Given the description of an element on the screen output the (x, y) to click on. 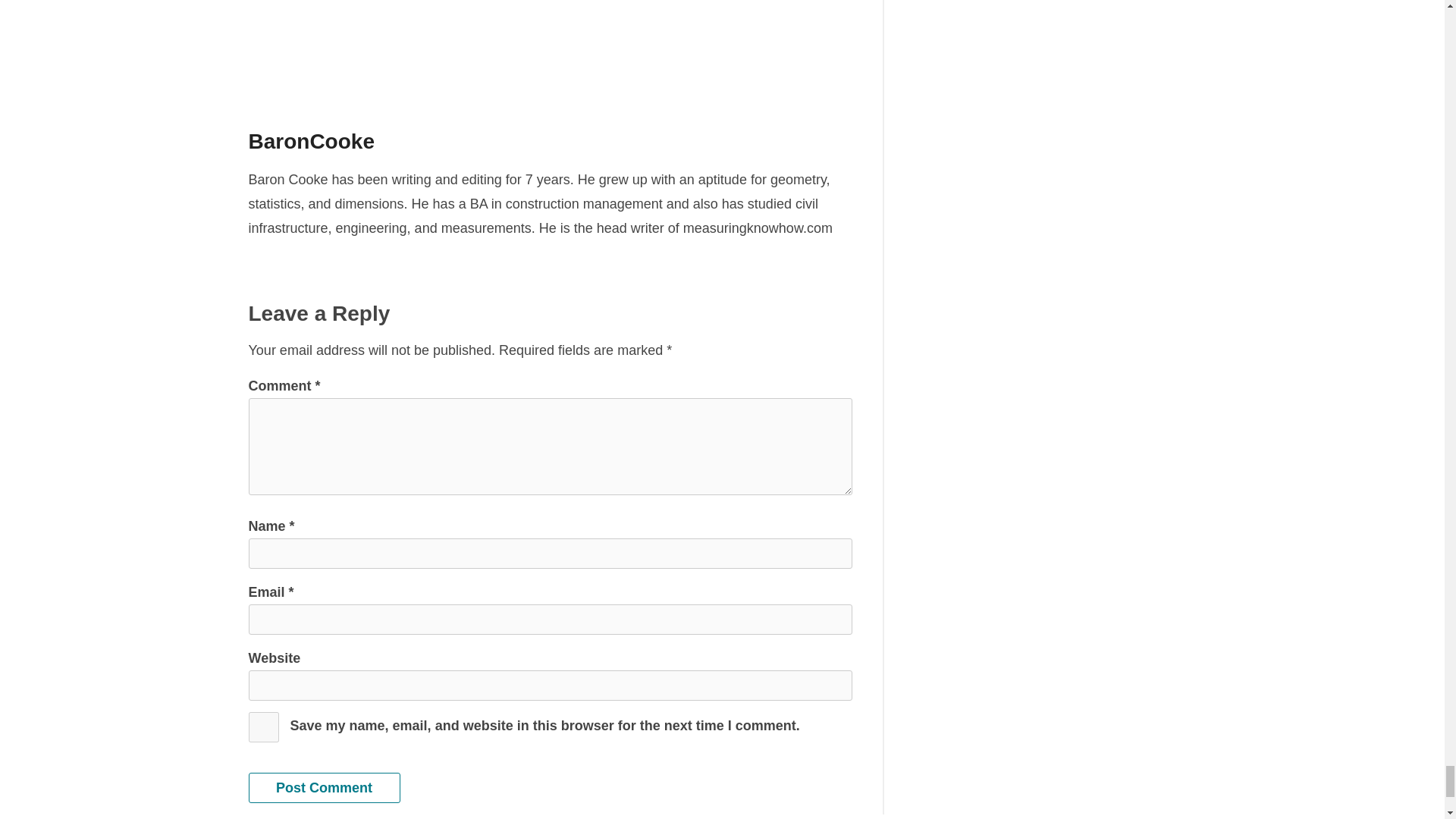
Post Comment (324, 788)
yes (263, 726)
Post Comment (324, 788)
